Given the description of an element on the screen output the (x, y) to click on. 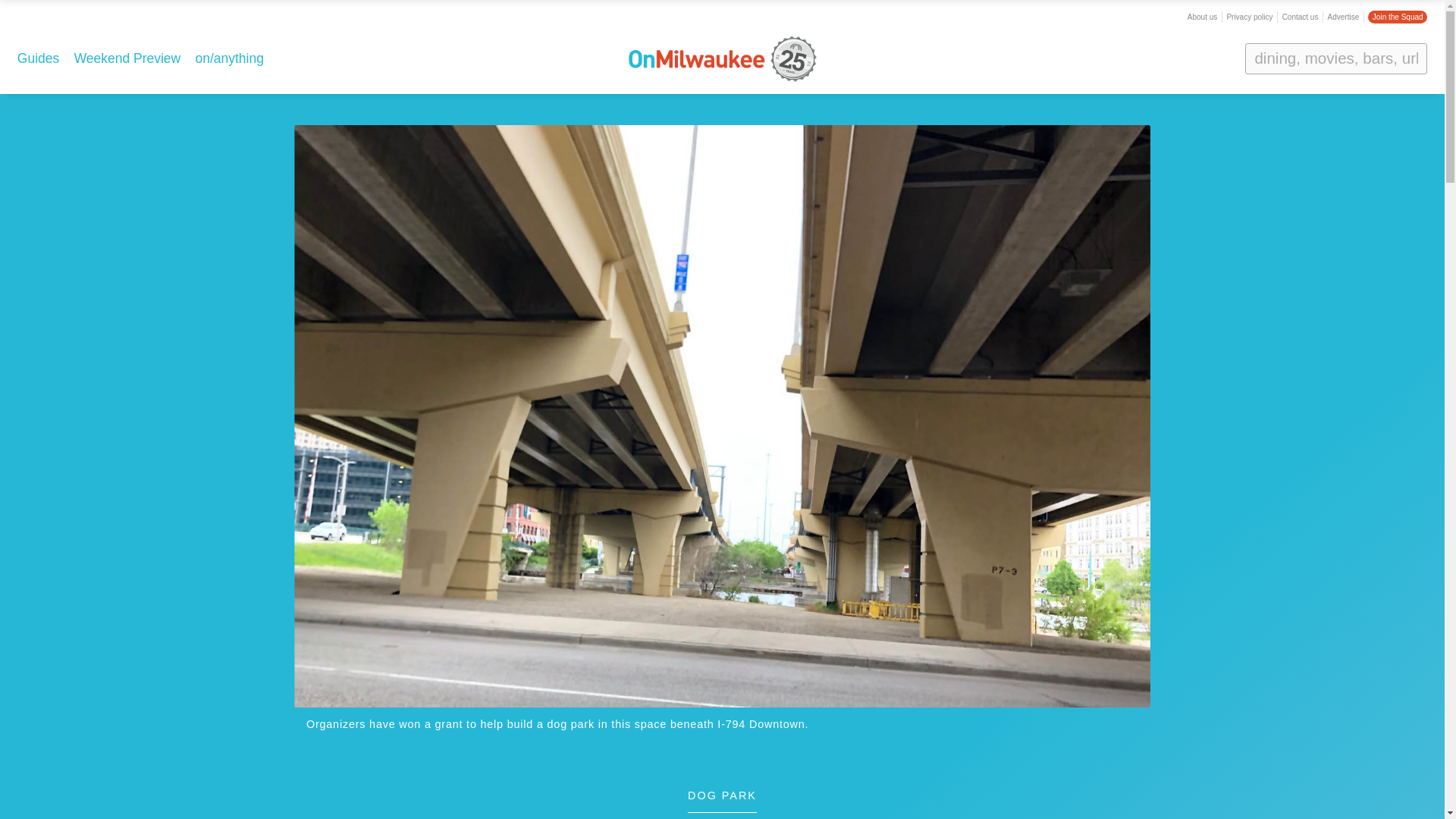
Privacy policy (1248, 17)
Contact us (1300, 17)
Weekend Preview (127, 58)
Join the Squad (1397, 16)
About us (1202, 17)
dining, movies, bars, urban spelunking (1335, 58)
Advertise (1343, 17)
DOG PARK (722, 801)
dining, movies, bars, urban spelunking (1335, 58)
Guides (38, 58)
